Given the description of an element on the screen output the (x, y) to click on. 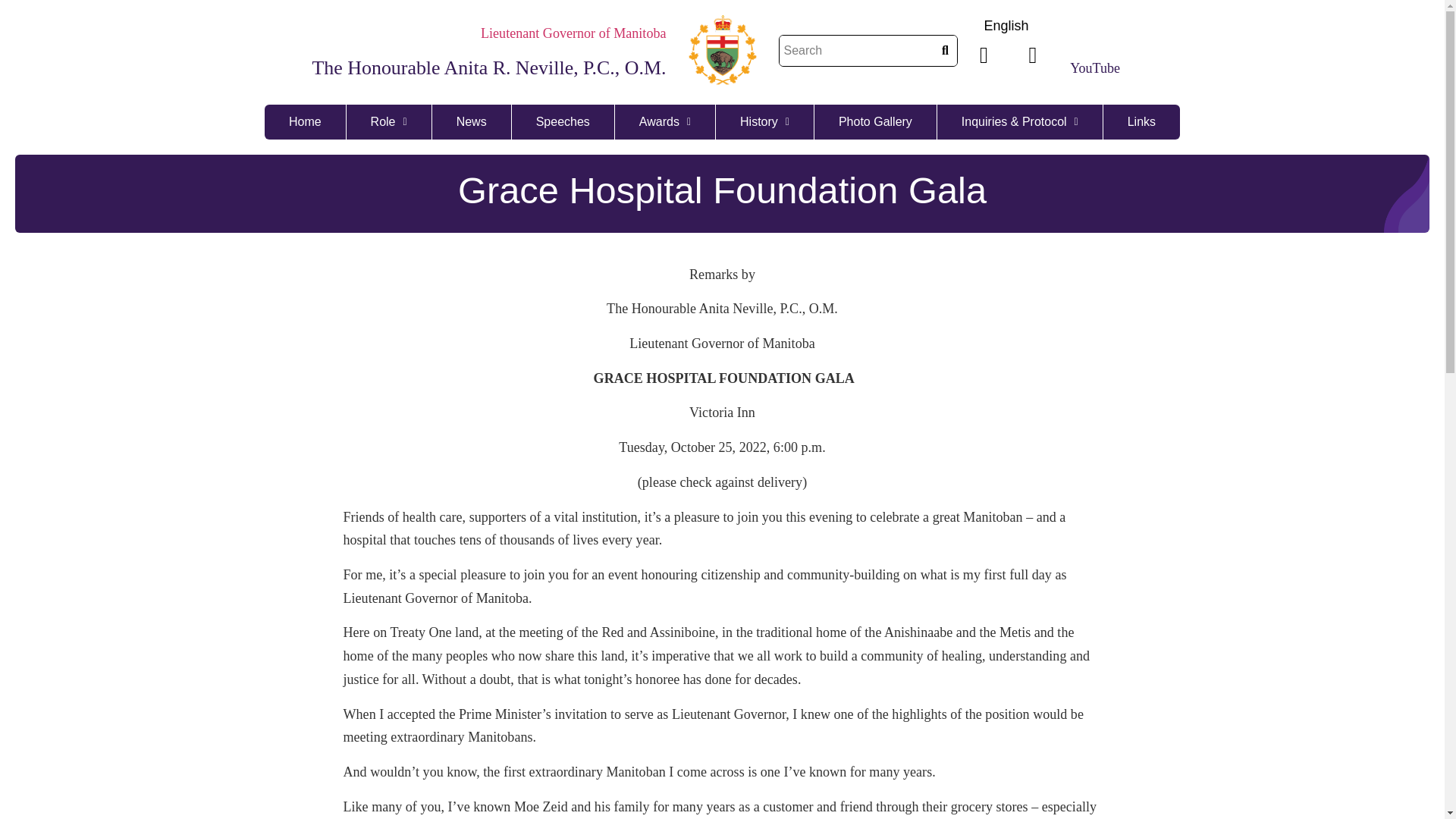
English (1005, 25)
Role (389, 121)
Speeches (563, 121)
The Honourable Anita R. Neville, P.C., O.M. (489, 67)
News (472, 121)
Lieutenant Governor of Manitoba (572, 32)
History (764, 121)
Home (305, 121)
Photo Gallery (875, 121)
Links (1141, 121)
English (1005, 25)
Awards (665, 121)
YouTube (1094, 68)
Search (856, 50)
